Given the description of an element on the screen output the (x, y) to click on. 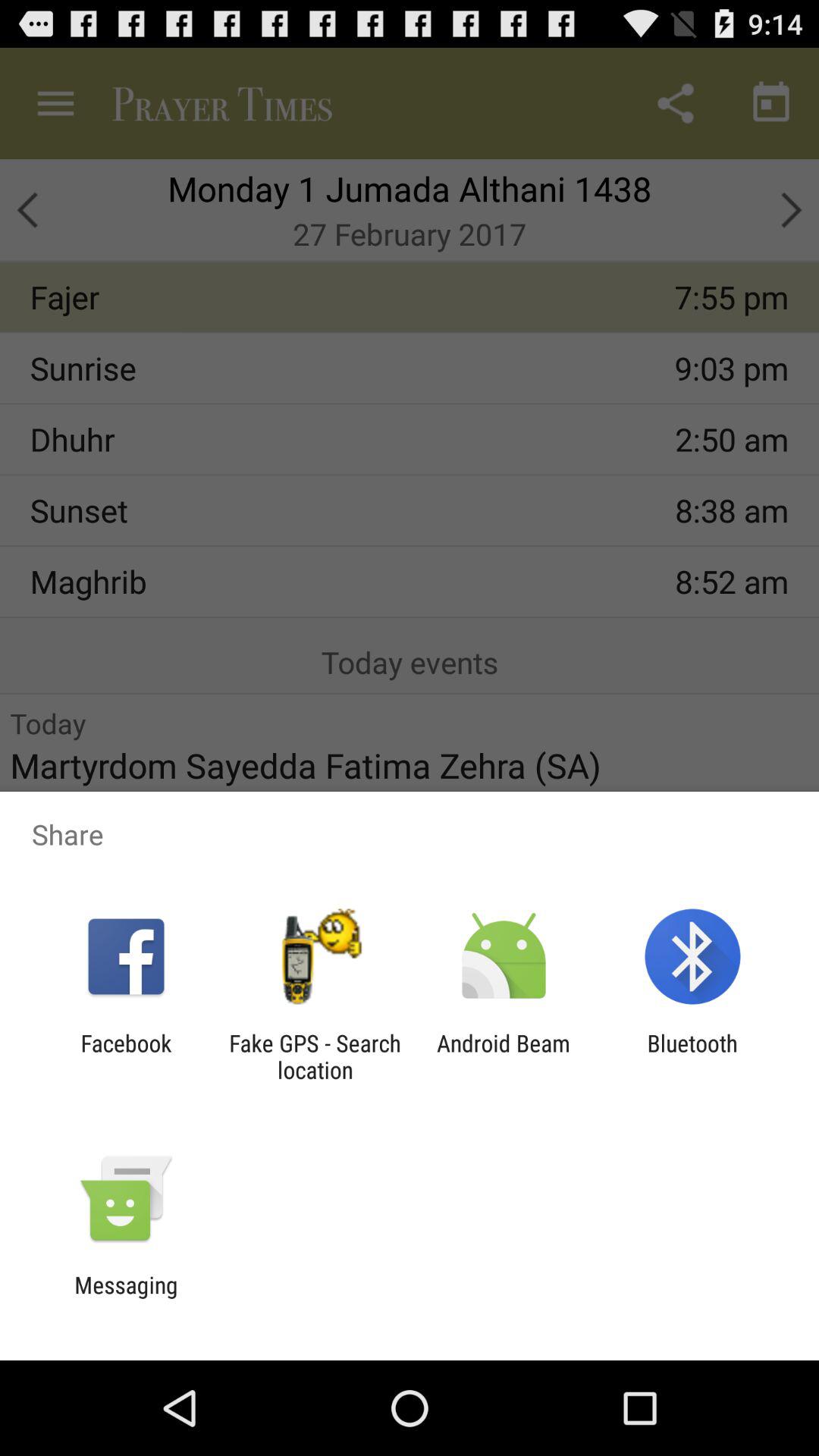
scroll to the facebook app (125, 1056)
